Given the description of an element on the screen output the (x, y) to click on. 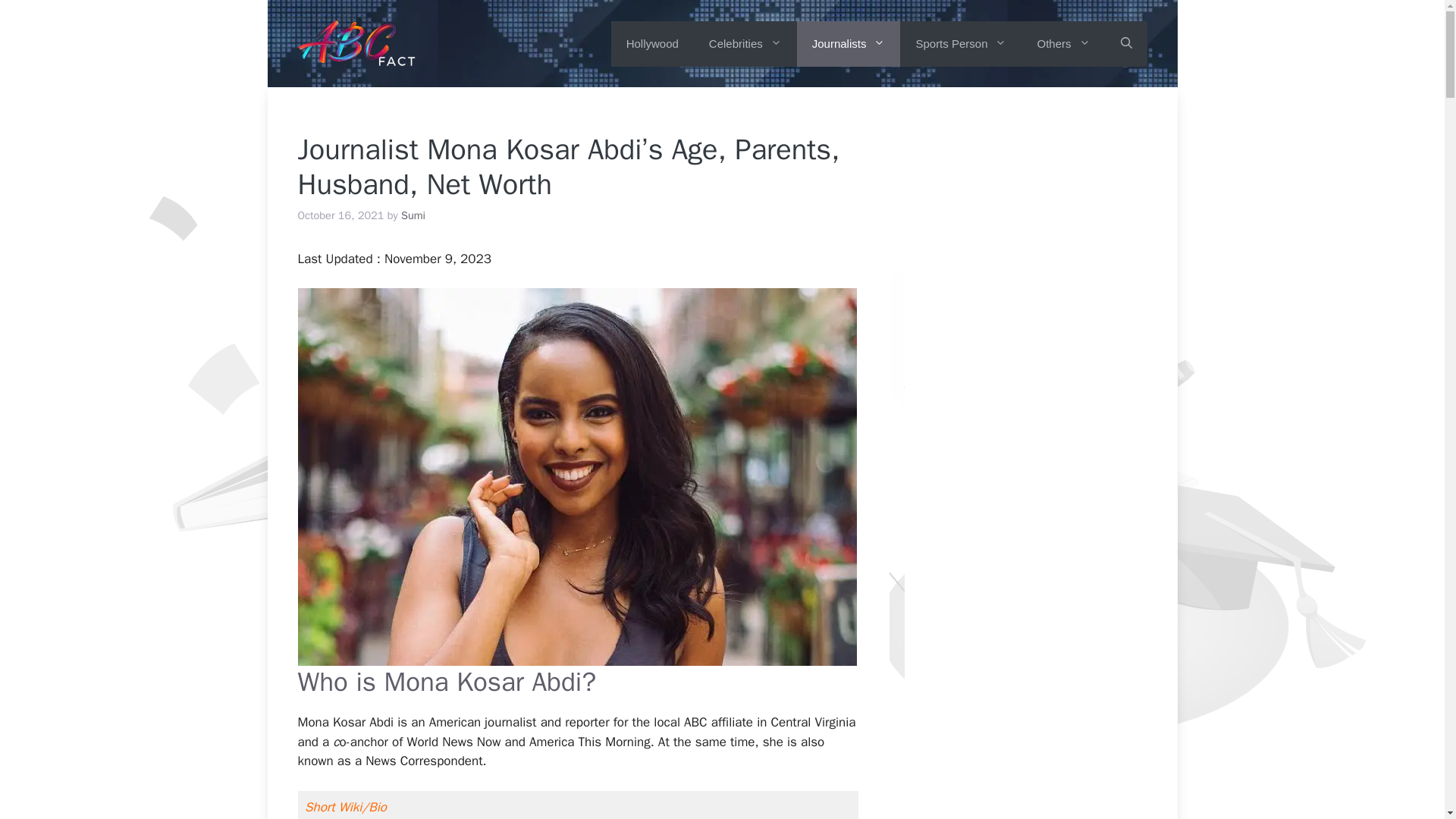
Sports Person (960, 43)
Others (1063, 43)
View all posts by Sumi (413, 214)
Journalists (848, 43)
Sumi (413, 214)
Hollywood (652, 43)
Celebrities (745, 43)
